Given the description of an element on the screen output the (x, y) to click on. 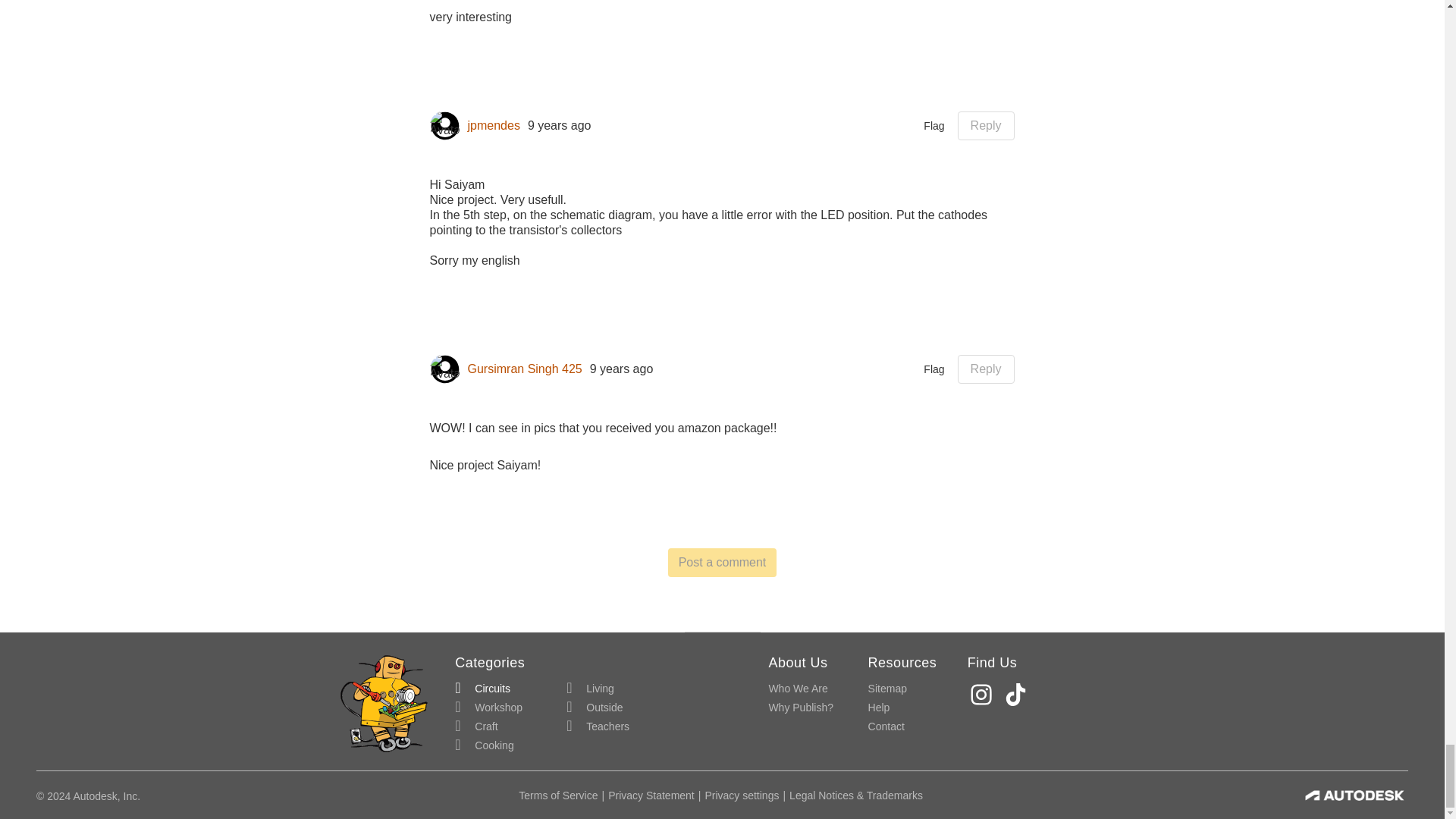
2015-12-22 02:23:11.0 (621, 368)
TikTok (1018, 694)
Instagram (983, 694)
2015-12-27 05:22:24.0 (559, 125)
